Given the description of an element on the screen output the (x, y) to click on. 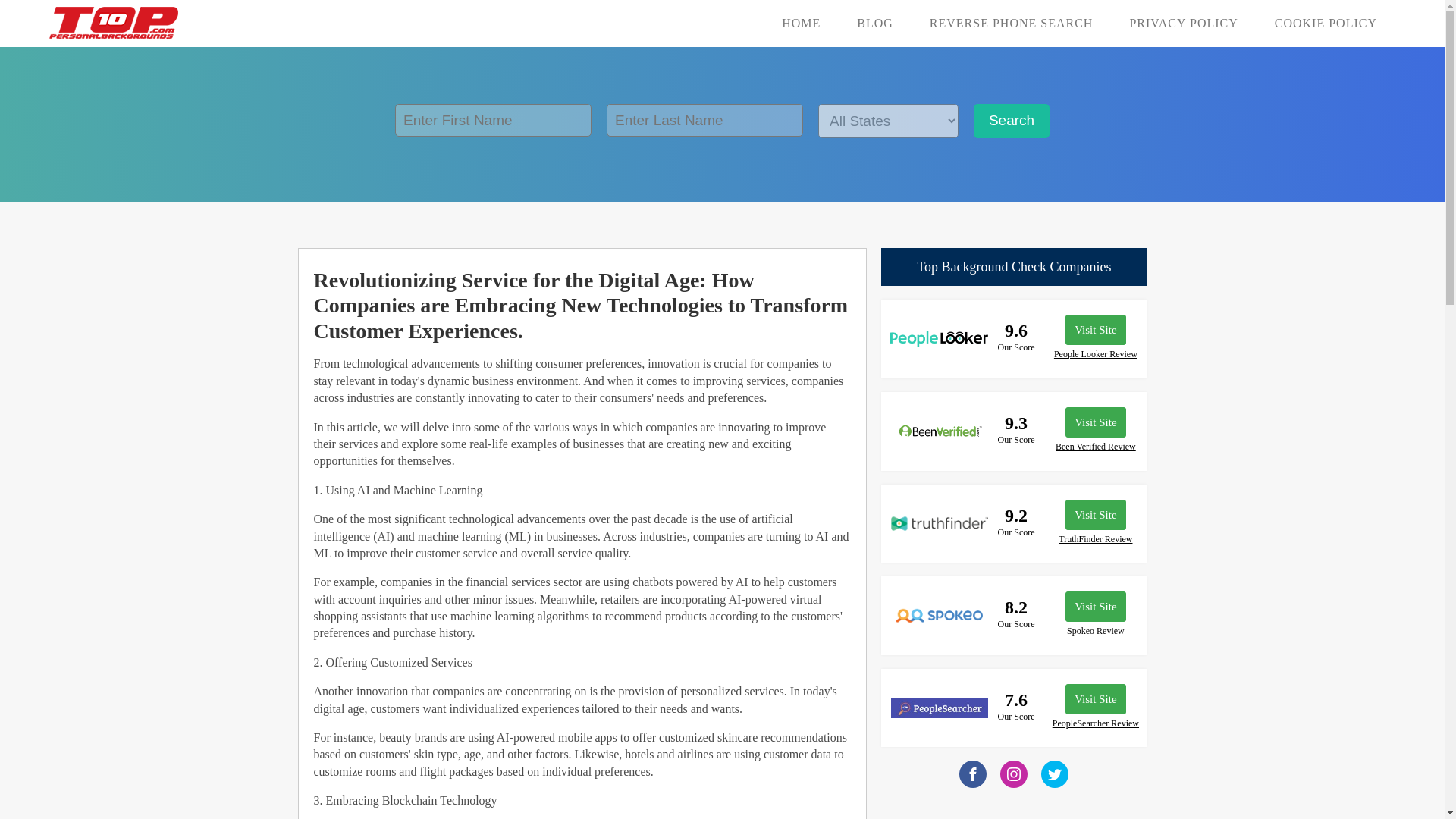
PRIVACY POLICY (1182, 23)
Visit Site (1095, 606)
Visit Site (1095, 698)
BLOG (874, 23)
TruthFinder Review (1095, 539)
HOME (800, 23)
Search (1011, 121)
Been Verified Review (1095, 446)
Visit Site (1095, 514)
Visit Site (1095, 422)
Spokeo Review (1095, 631)
PeopleSearcher Review (1095, 723)
COOKIE POLICY (1325, 23)
REVERSE PHONE SEARCH (1011, 23)
Visit Site (1095, 329)
